Given the description of an element on the screen output the (x, y) to click on. 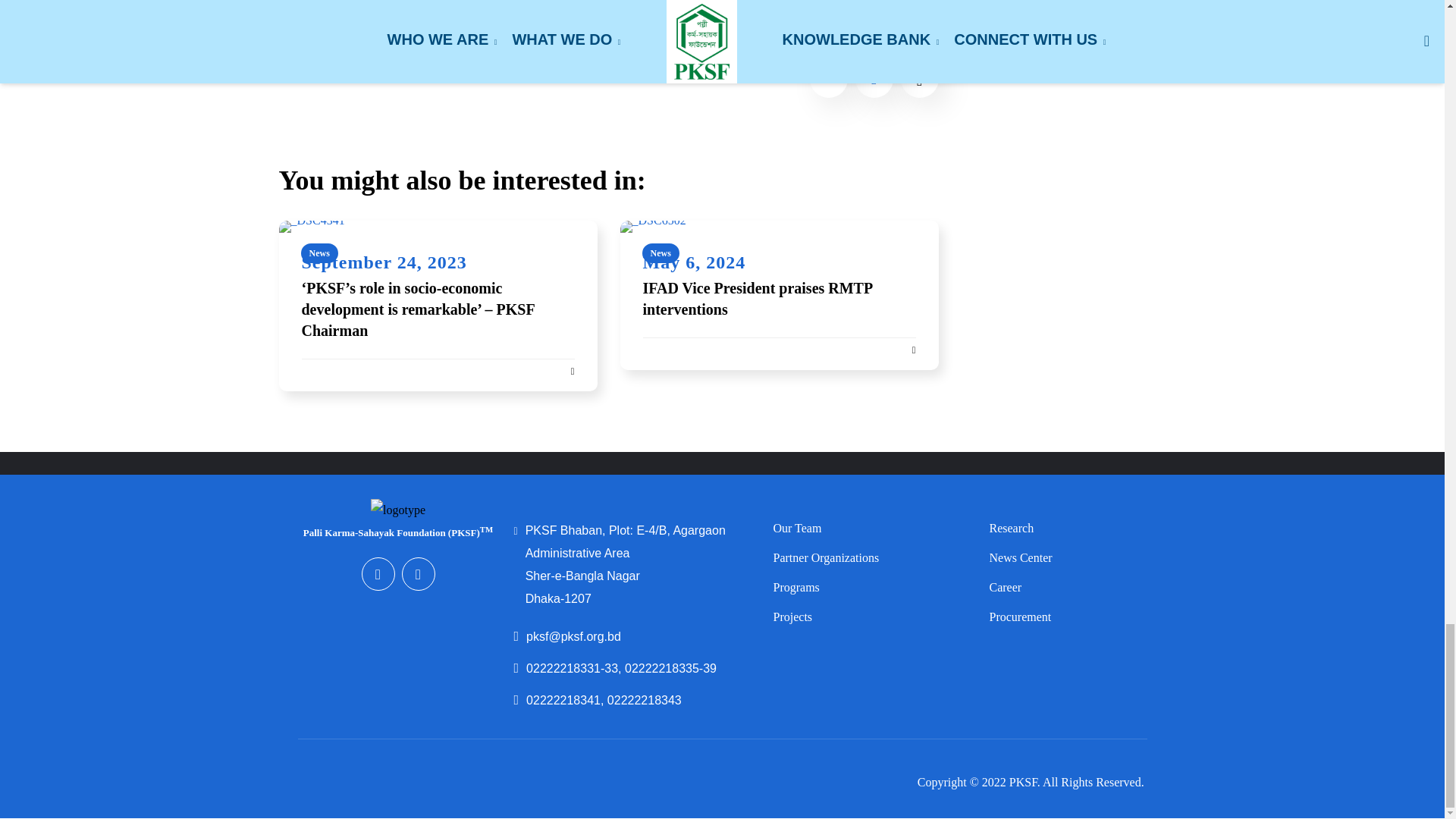
Like (920, 78)
Total Views (874, 78)
YouTube (418, 573)
Facebook (377, 573)
